Given the description of an element on the screen output the (x, y) to click on. 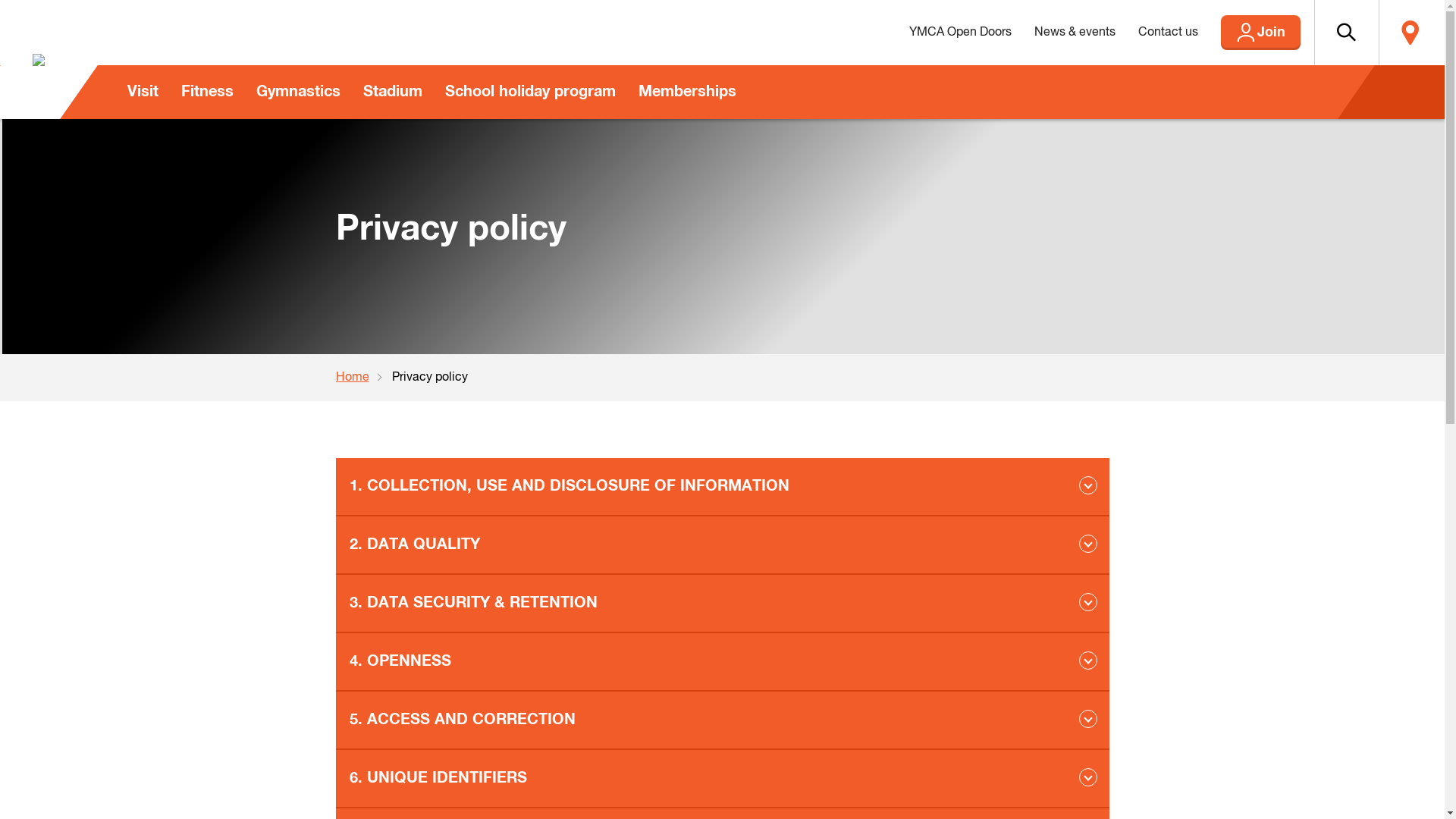
Contact us Element type: text (1167, 32)
Stadium Element type: text (392, 92)
5. ACCESS AND CORRECTION Element type: text (721, 720)
2. DATA QUALITY Element type: text (721, 545)
Home Element type: text (363, 377)
News & events Element type: text (1074, 32)
Locate Element type: text (1410, 32)
Join Element type: text (1260, 32)
Visit Element type: text (142, 92)
School holiday program Element type: text (530, 92)
4. OPENNESS Element type: text (721, 662)
6. UNIQUE IDENTIFIERS Element type: text (721, 778)
Memberships Element type: text (686, 92)
1. COLLECTION, USE AND DISCLOSURE OF INFORMATION Element type: text (721, 487)
3. DATA SECURITY & RETENTION Element type: text (721, 603)
YMCA Open Doors Element type: text (959, 32)
Fitness Element type: text (206, 92)
Gymnastics Element type: text (297, 92)
